Given the description of an element on the screen output the (x, y) to click on. 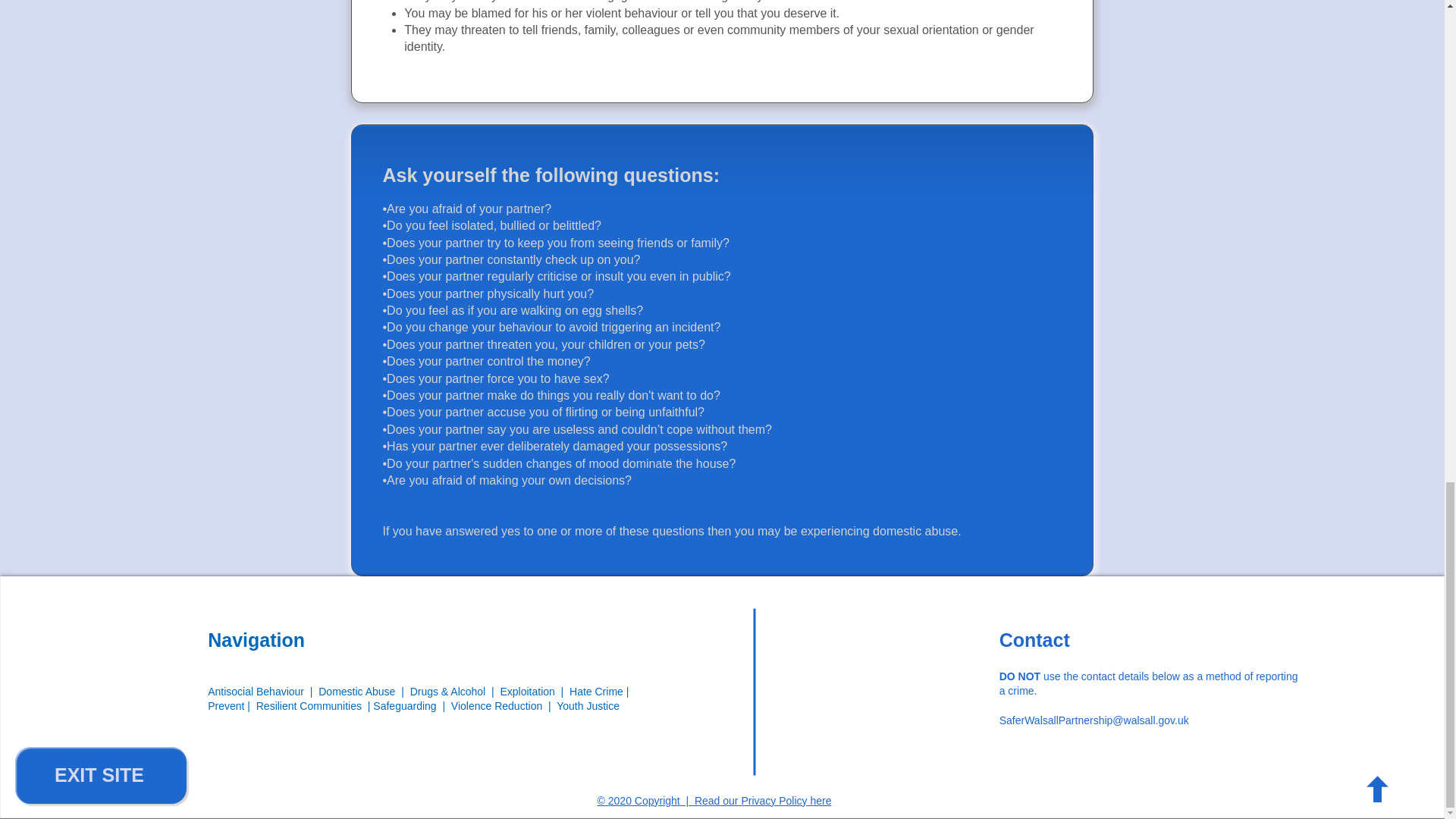
Domestic Abuse (356, 691)
Antisocial Behaviour (256, 691)
Resilient Communities (308, 705)
Prevent (227, 705)
Hate Crime (596, 691)
Violence Reduction (496, 705)
Safeguarding  (407, 705)
Youth Justice (588, 705)
Exploitation  (529, 691)
